Given the description of an element on the screen output the (x, y) to click on. 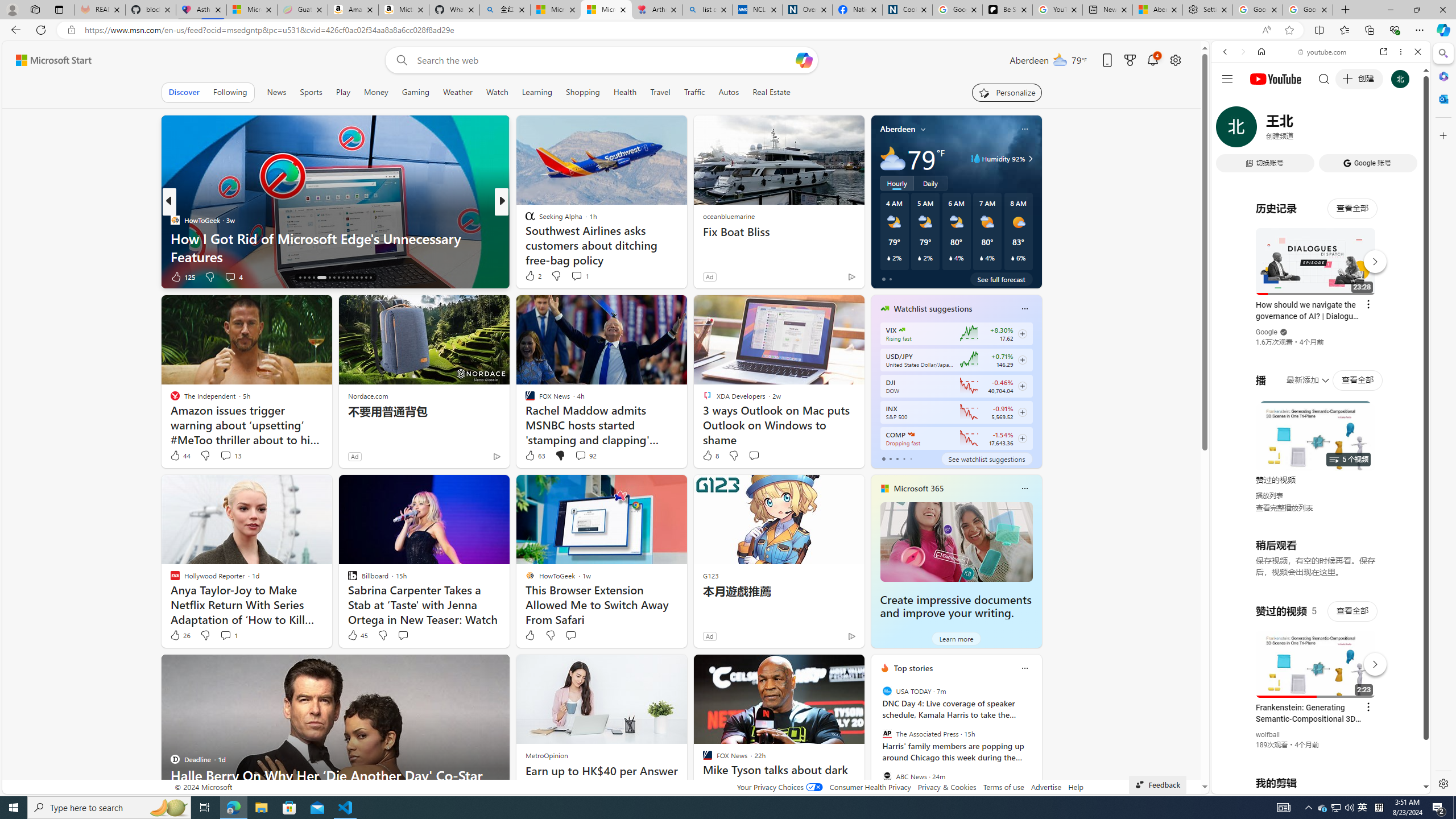
View comments 20 Comment (585, 276)
View comments 25 Comment (582, 276)
Cookies (907, 9)
Class: follow-button  m (1021, 438)
tab-0 (882, 458)
Earn up to HK$40 per Answer (601, 771)
310 Like (532, 276)
